Given the description of an element on the screen output the (x, y) to click on. 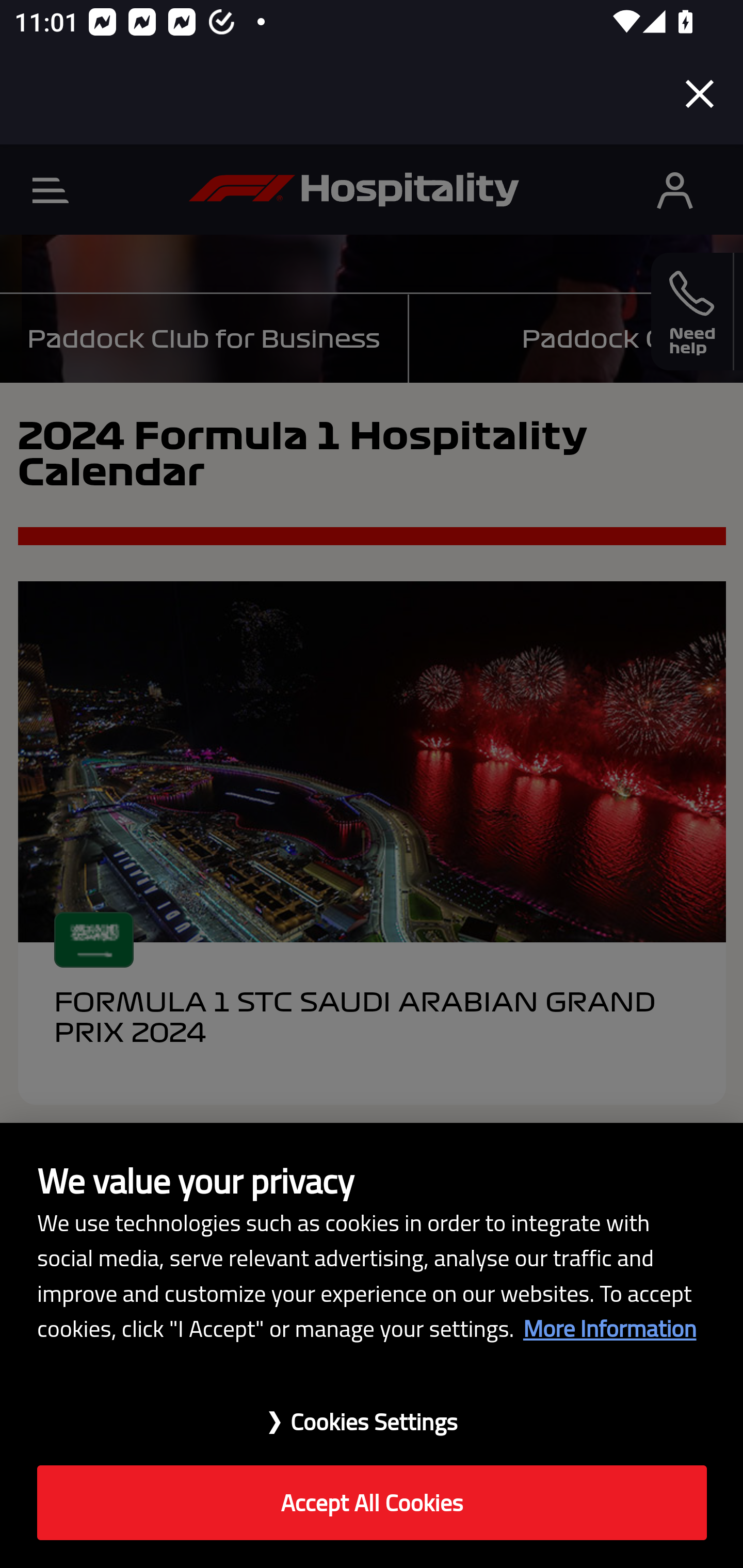
Close (699, 93)
Toggle Menu (51, 190)
 (674, 189)
Formula 1 (353, 190)
phone Need help (692, 311)
More Information (608, 1327)
❯Cookies Settings (372, 1411)
Accept All Cookies (372, 1502)
